Given the description of an element on the screen output the (x, y) to click on. 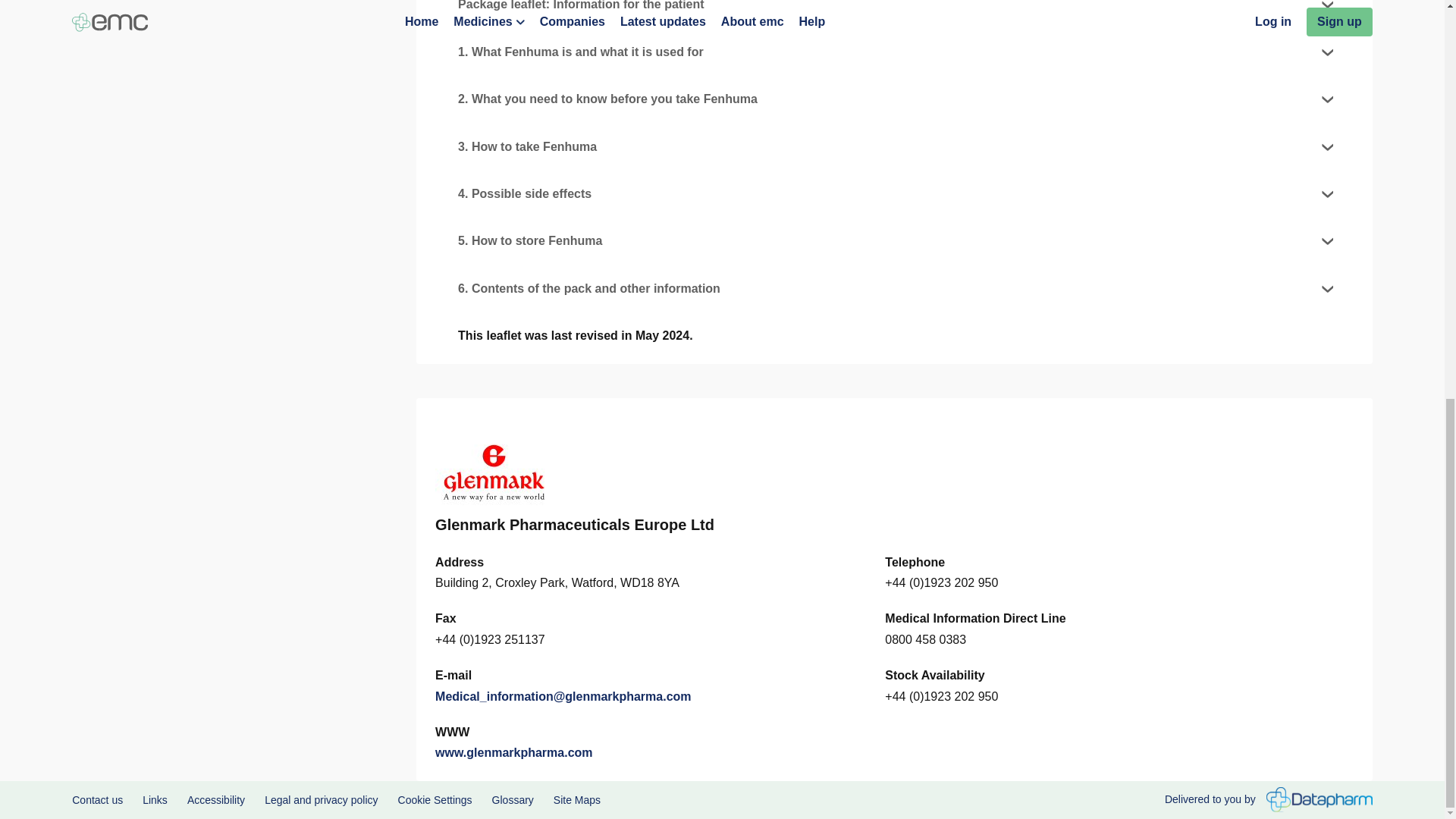
Accessibility (215, 799)
Legal and privacy policy (320, 799)
Links (154, 799)
Contact us (96, 799)
www.glenmarkpharma.com (513, 752)
